Given the description of an element on the screen output the (x, y) to click on. 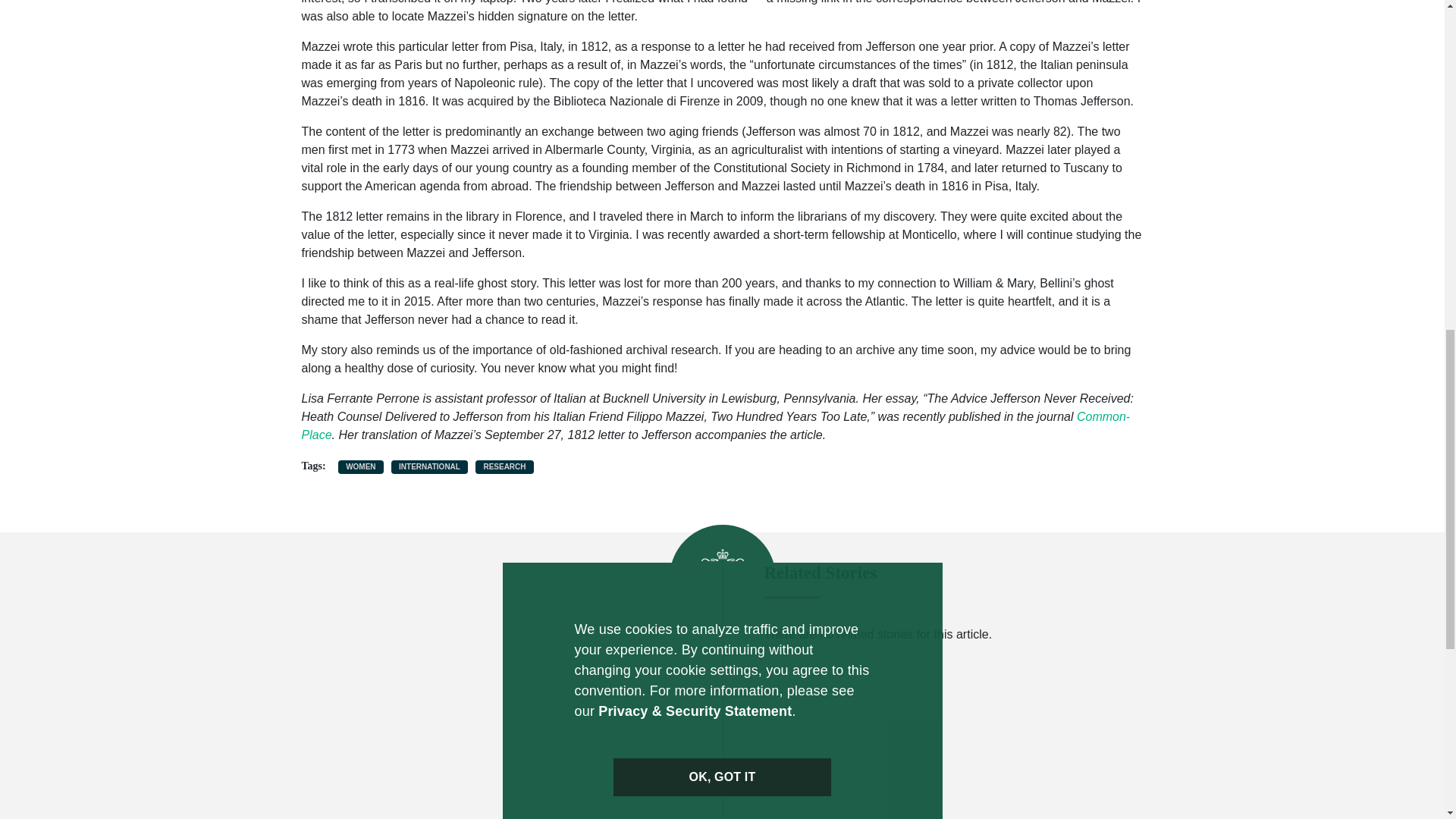
WOMEN (360, 466)
INTERNATIONAL (429, 466)
Common-Place (716, 425)
RESEARCH (504, 466)
